Given the description of an element on the screen output the (x, y) to click on. 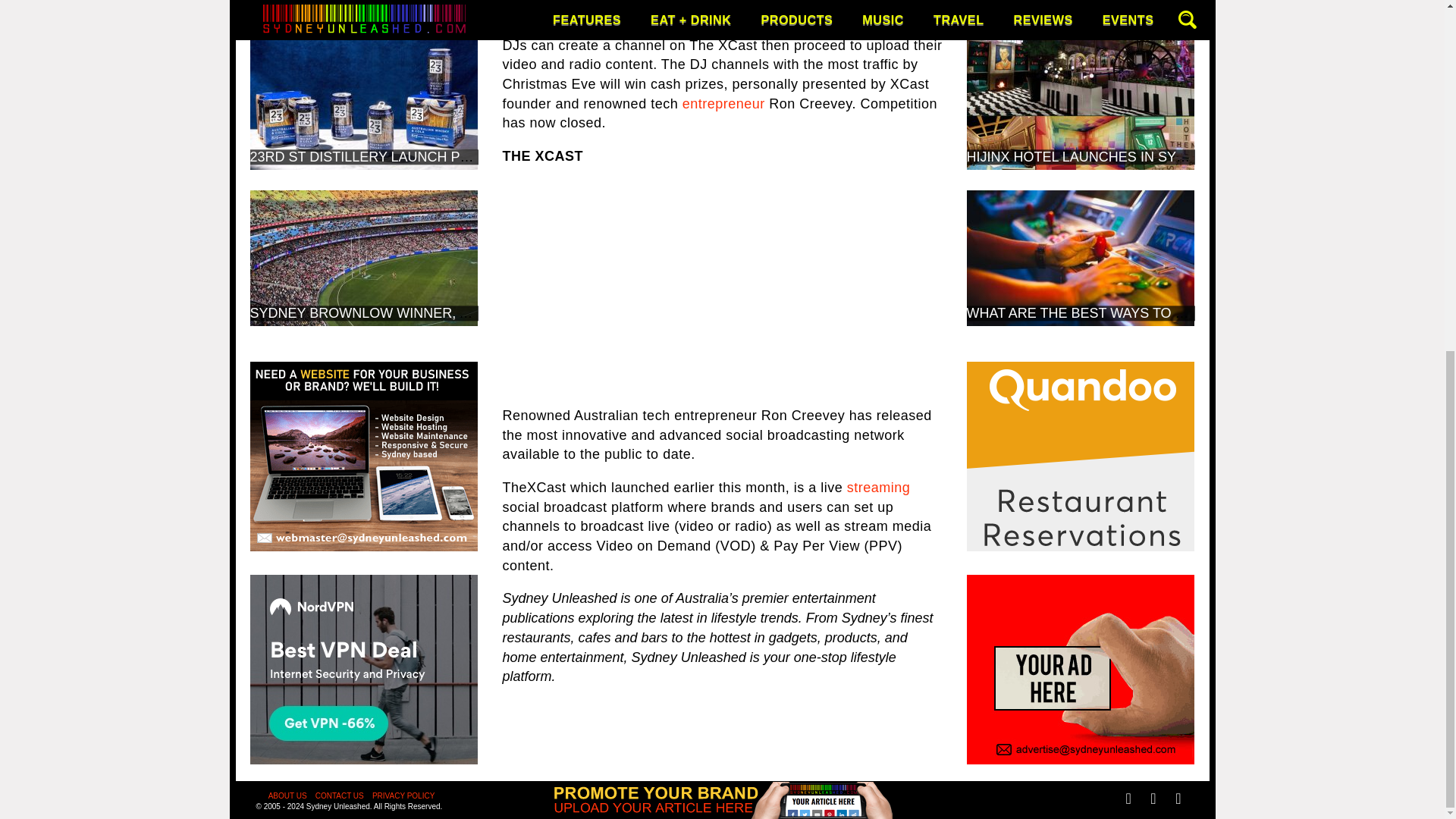
entrepreneur (723, 103)
streaming (879, 487)
SYDNEY BROWNLOW WINNER, AND ALL SYDNEY GRAND FINAL? (464, 313)
Advertisement (722, 286)
Upload Your Featured Post (721, 203)
